Given the description of an element on the screen output the (x, y) to click on. 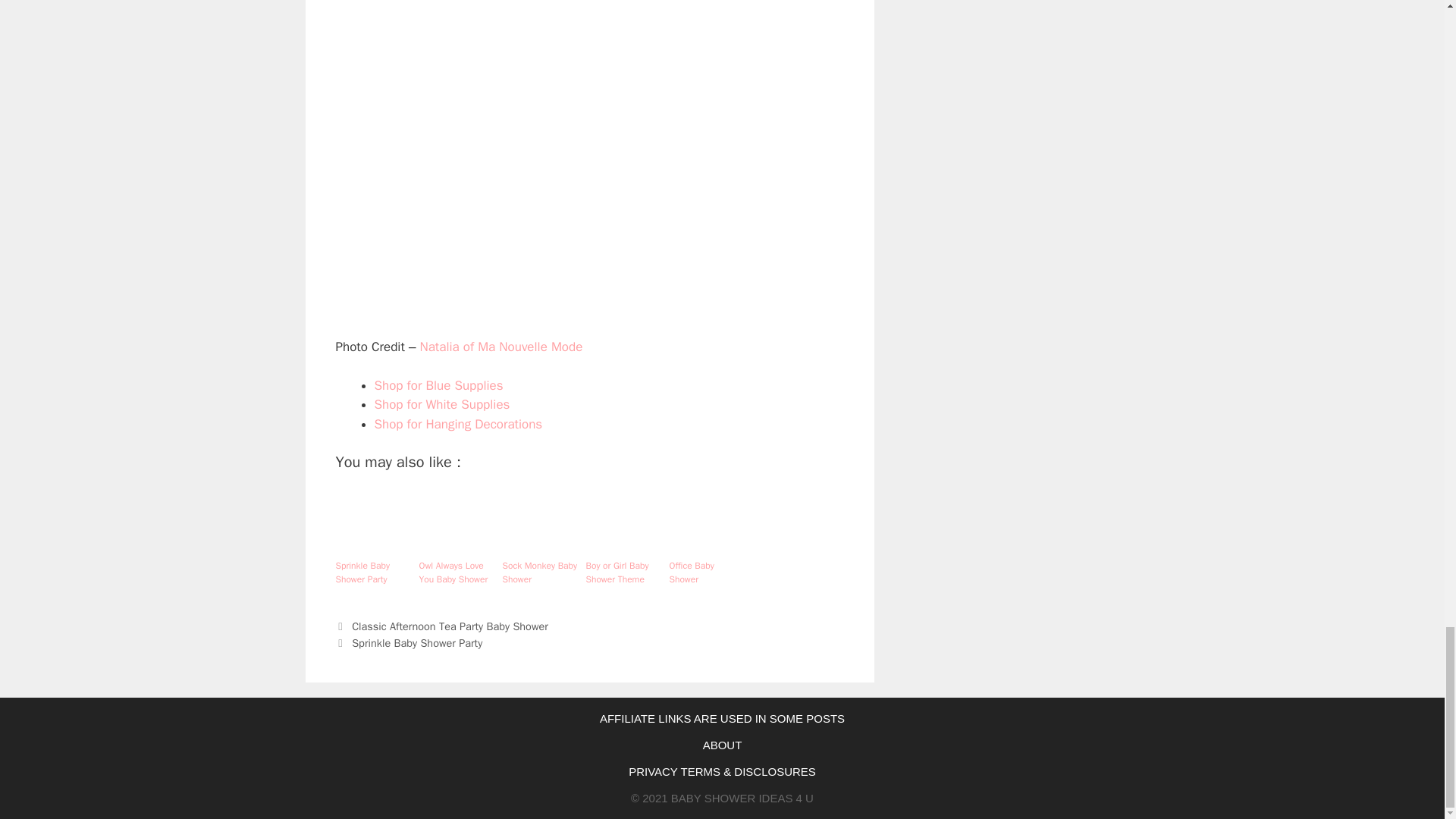
Classic Afternoon Tea Party Baby Shower (450, 626)
Sprinkle Baby Shower Party (416, 643)
Previous (440, 626)
Shop for White Supplies (442, 404)
Sock Monkey Baby Shower (540, 571)
Natalia of Ma Nouvelle Mode (500, 345)
Shop for Blue Supplies (438, 385)
Sprinkle Baby Shower Party (372, 571)
Office Baby Shower (706, 571)
Shop for Hanging Decorations (458, 423)
